Given the description of an element on the screen output the (x, y) to click on. 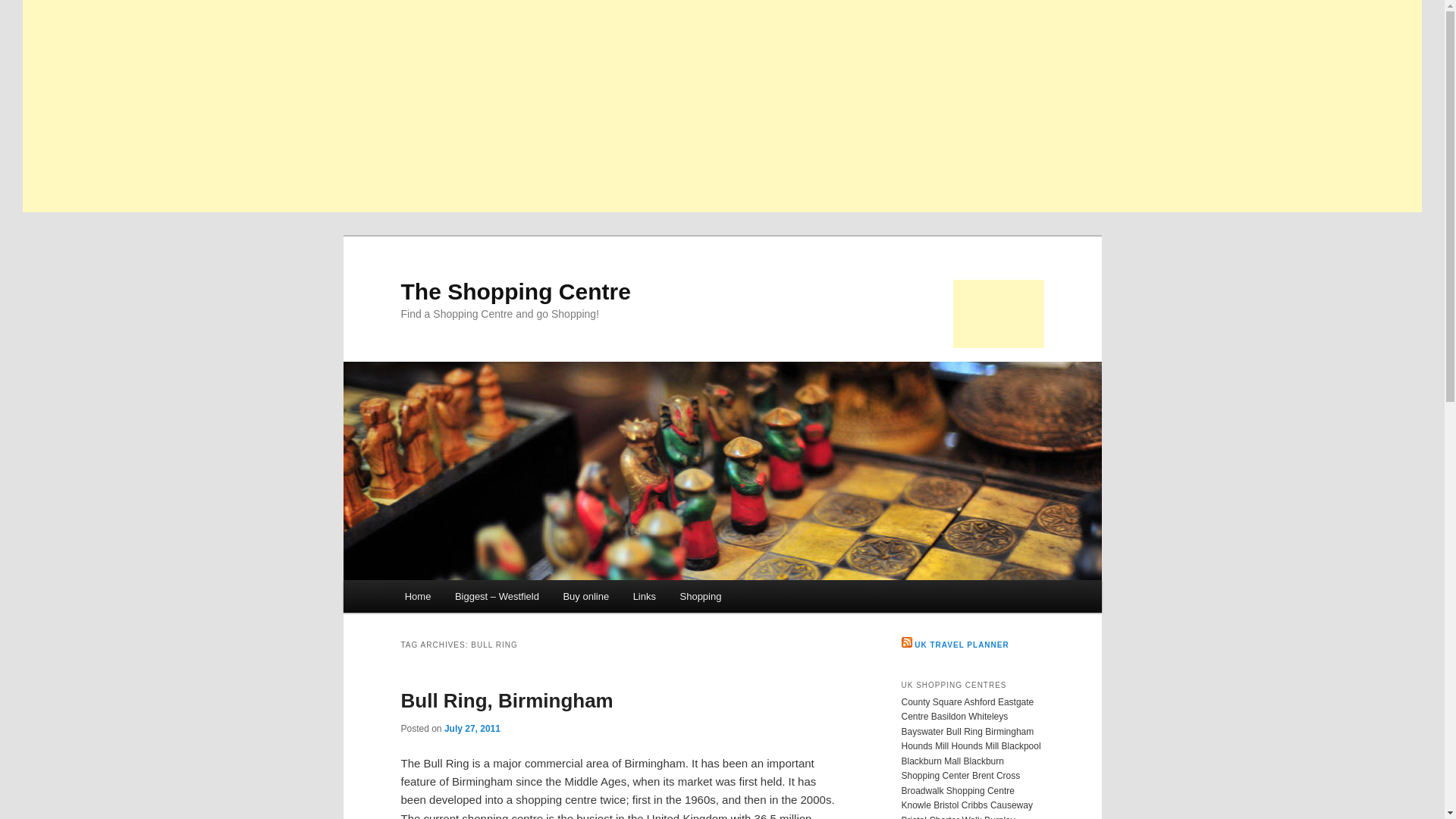
The Shopping Centre (515, 291)
Shopping (700, 595)
Home (417, 595)
Links (644, 595)
Buy online (586, 595)
Bull Ring, Birmingham (506, 700)
Advertisement (997, 314)
UK TRAVEL PLANNER (961, 644)
5:26 pm (472, 728)
The Shopping Centre (515, 291)
July 27, 2011 (472, 728)
